Given the description of an element on the screen output the (x, y) to click on. 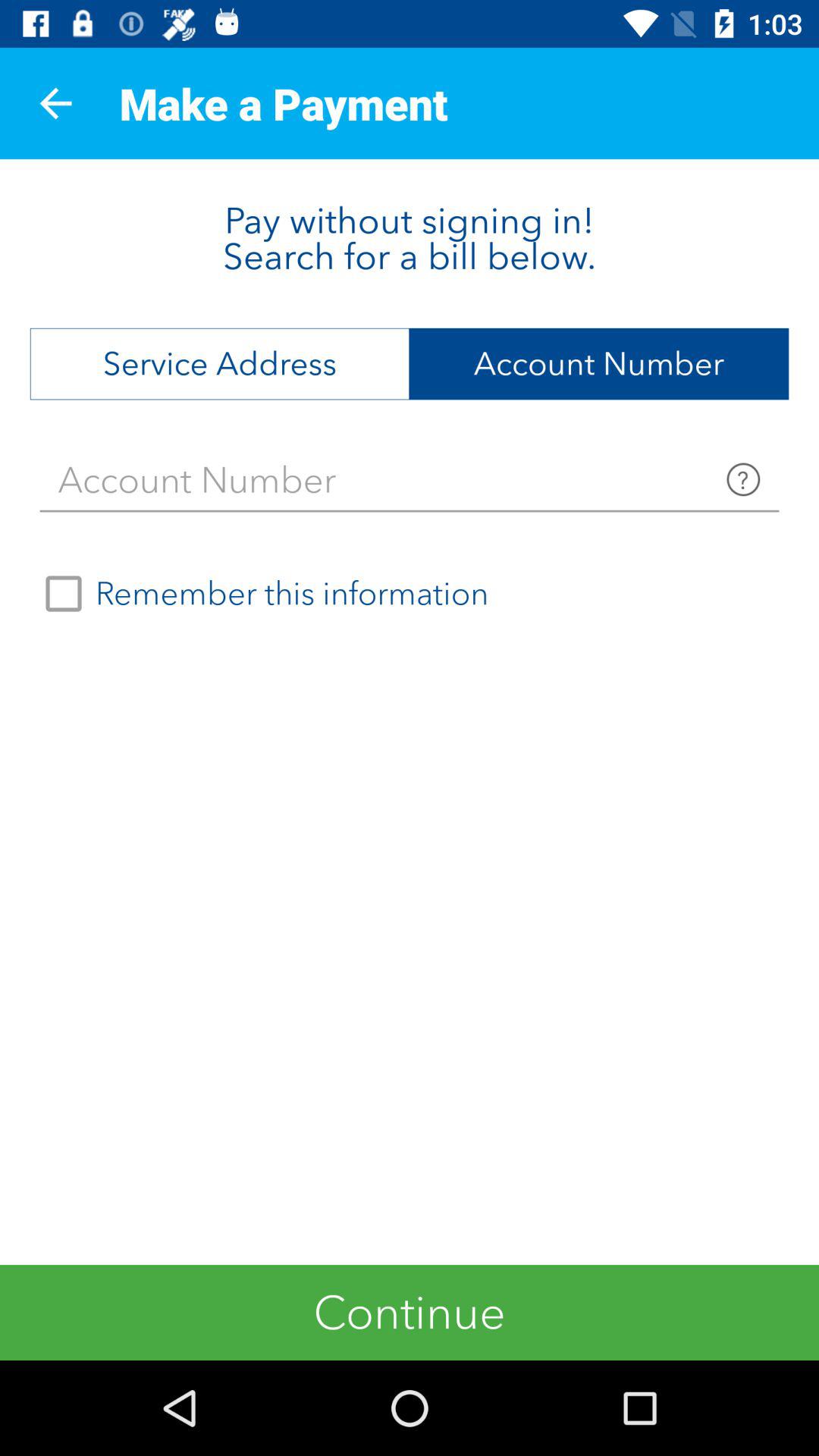
tap the continue (409, 1312)
